Given the description of an element on the screen output the (x, y) to click on. 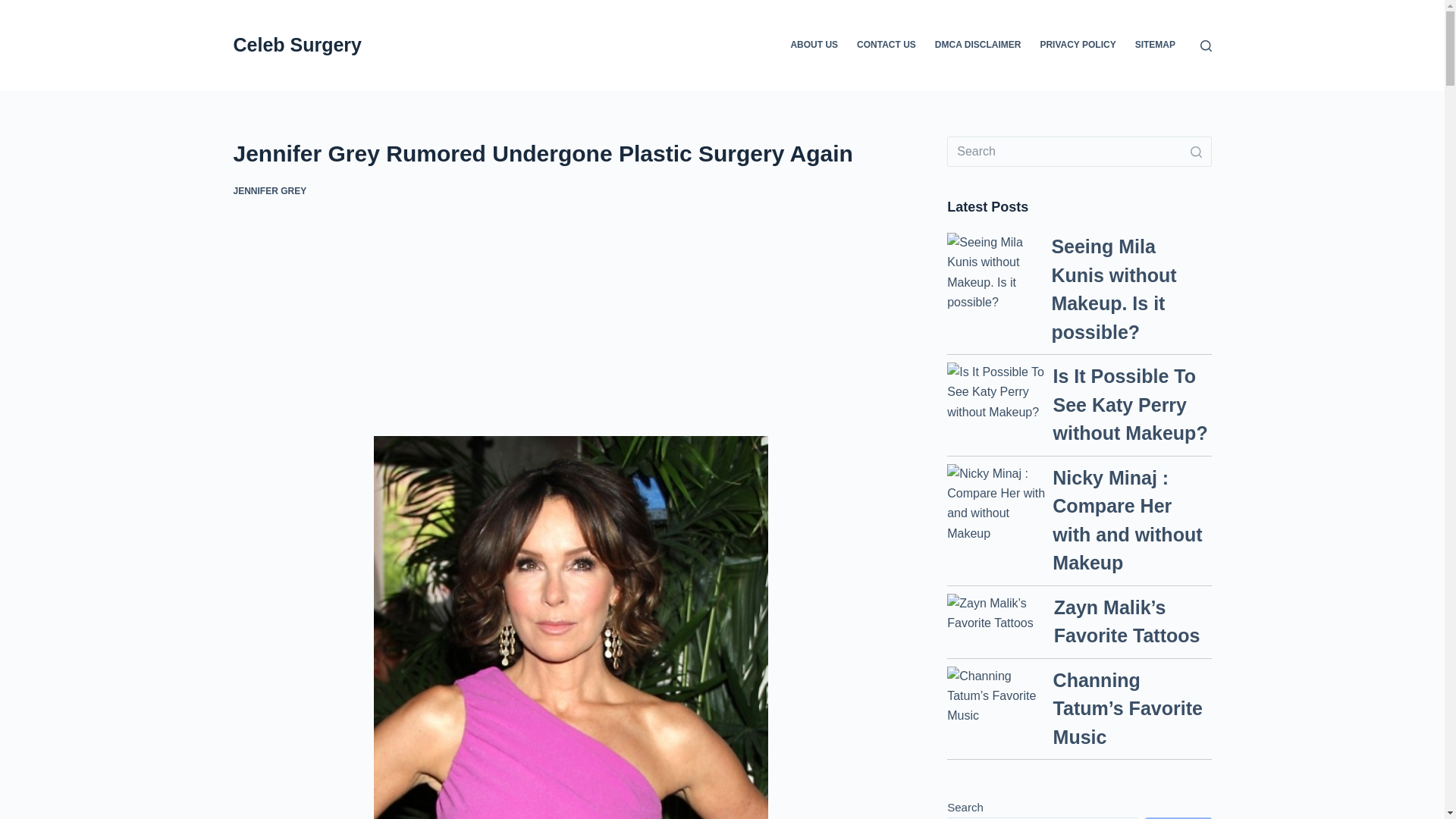
JENNIFER GREY (269, 190)
Skip to content (15, 7)
Seeing Mila Kunis without Makeup. Is it possible? (1113, 289)
Search Input (1079, 151)
Is It Possible To See Katy Perry without Makeup? (996, 392)
Nicky Minaj : Compare Her with and without Makeup (1127, 520)
Celeb Surgery (297, 44)
Is It Possible To See Katy Perry without Makeup? (1129, 404)
Jennifer Grey Rumored Undergone Plastic Surgery Again (570, 153)
